Given the description of an element on the screen output the (x, y) to click on. 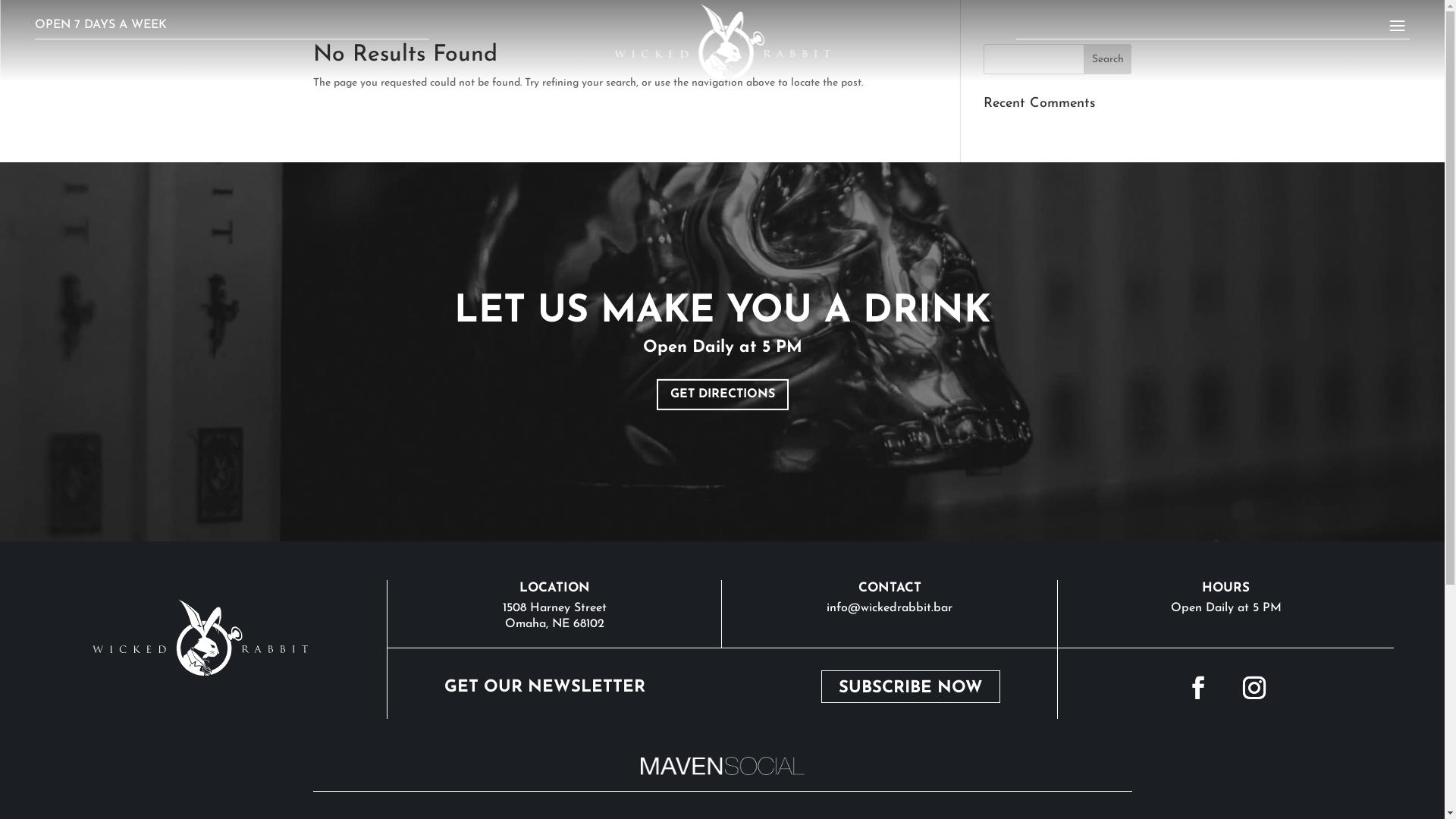
Search Element type: text (1107, 58)
wickedrabbit_logo_white_rezised Element type: hover (199, 637)
Follow on Facebook Element type: hover (1197, 687)
Follow on Instagram Element type: hover (1254, 687)
mavensocial_logo_white Element type: hover (721, 765)
SUBSCRIBE NOW Element type: text (910, 686)
info@wickedrabbit.bar Element type: text (889, 608)
GET DIRECTIONS Element type: text (722, 394)
wickedrabbit_logo_white_rezised Element type: hover (721, 41)
